Given the description of an element on the screen output the (x, y) to click on. 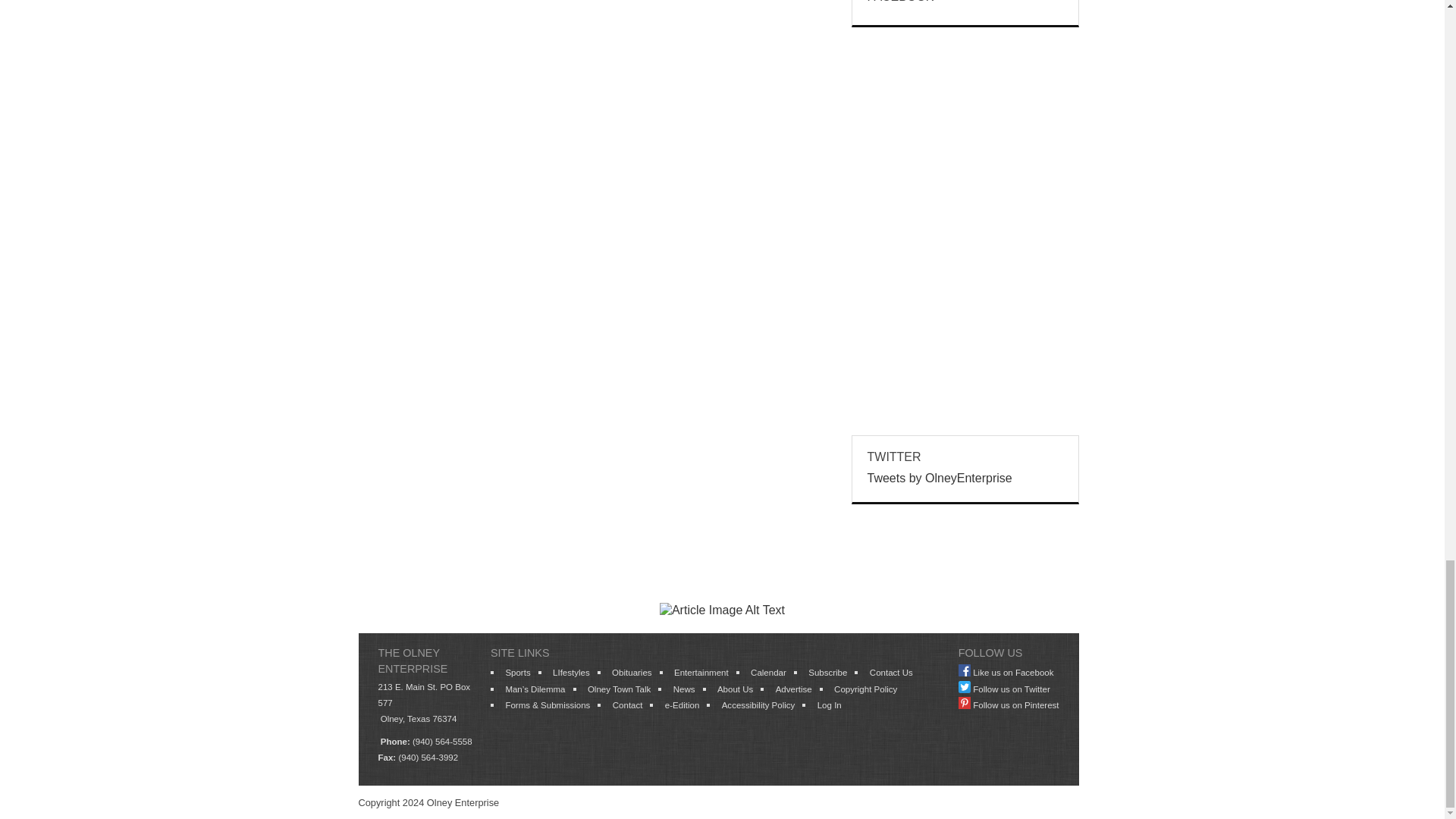
3rd party ad content (721, 553)
3rd party ad content (964, 325)
Sports (517, 672)
The latest weather for olney (964, 207)
Tweets by OlneyEnterprise (939, 477)
